Given the description of an element on the screen output the (x, y) to click on. 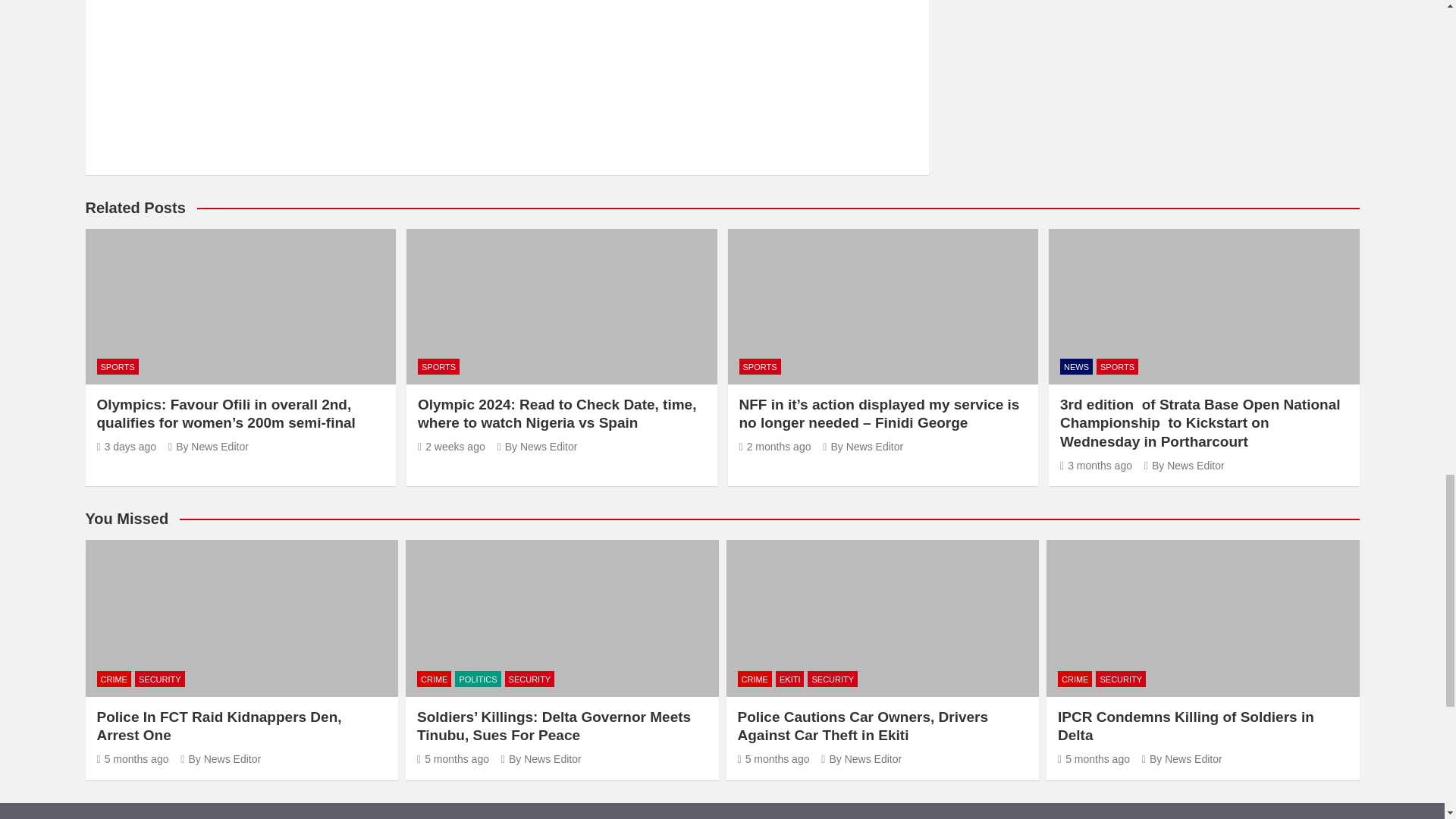
Police In FCT Raid Kidnappers Den, Arrest One (132, 758)
Comment Form (507, 74)
